Given the description of an element on the screen output the (x, y) to click on. 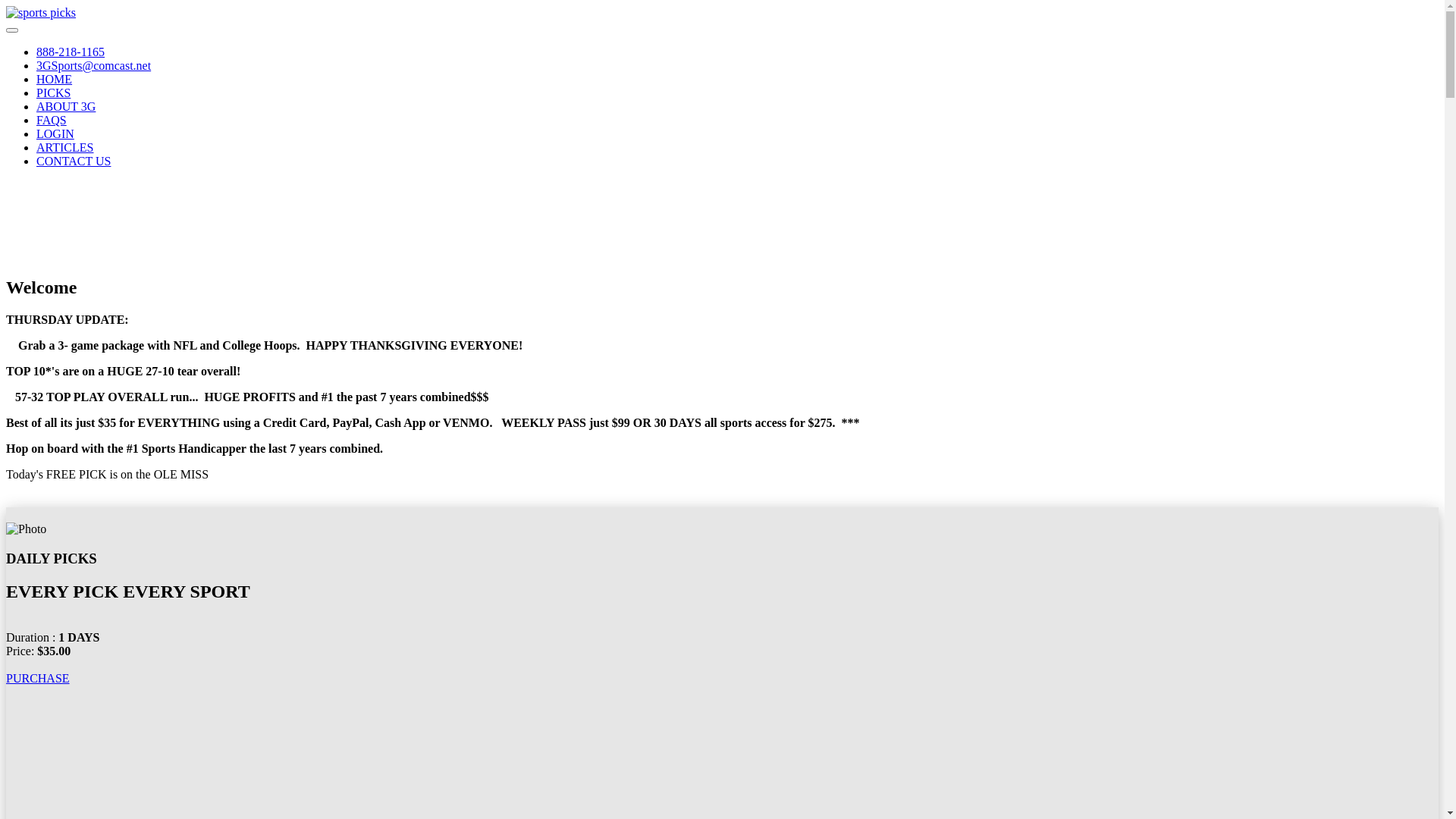
FAQS Element type: text (51, 119)
CONTACT US Element type: text (73, 160)
HOME Element type: text (54, 78)
ARTICLES Element type: text (64, 147)
3GSports@comcast.net Element type: text (93, 65)
LOGIN Element type: text (55, 133)
ABOUT 3G Element type: text (65, 106)
PICKS Element type: text (53, 92)
PURCHASE Element type: text (37, 677)
888-218-1165 Element type: text (70, 51)
